Given the description of an element on the screen output the (x, y) to click on. 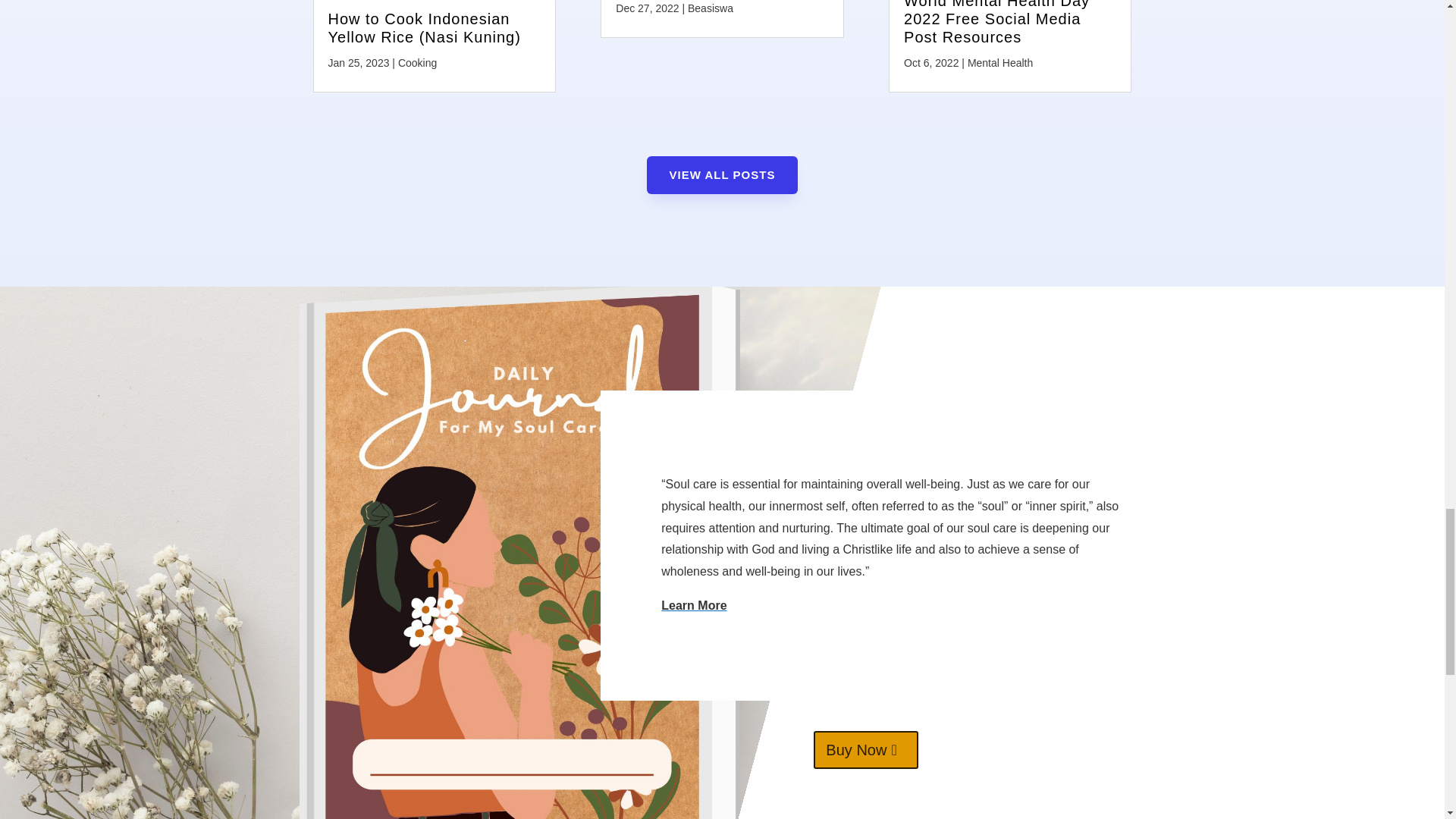
Cooking (416, 62)
Beasiswa (710, 8)
